Given the description of an element on the screen output the (x, y) to click on. 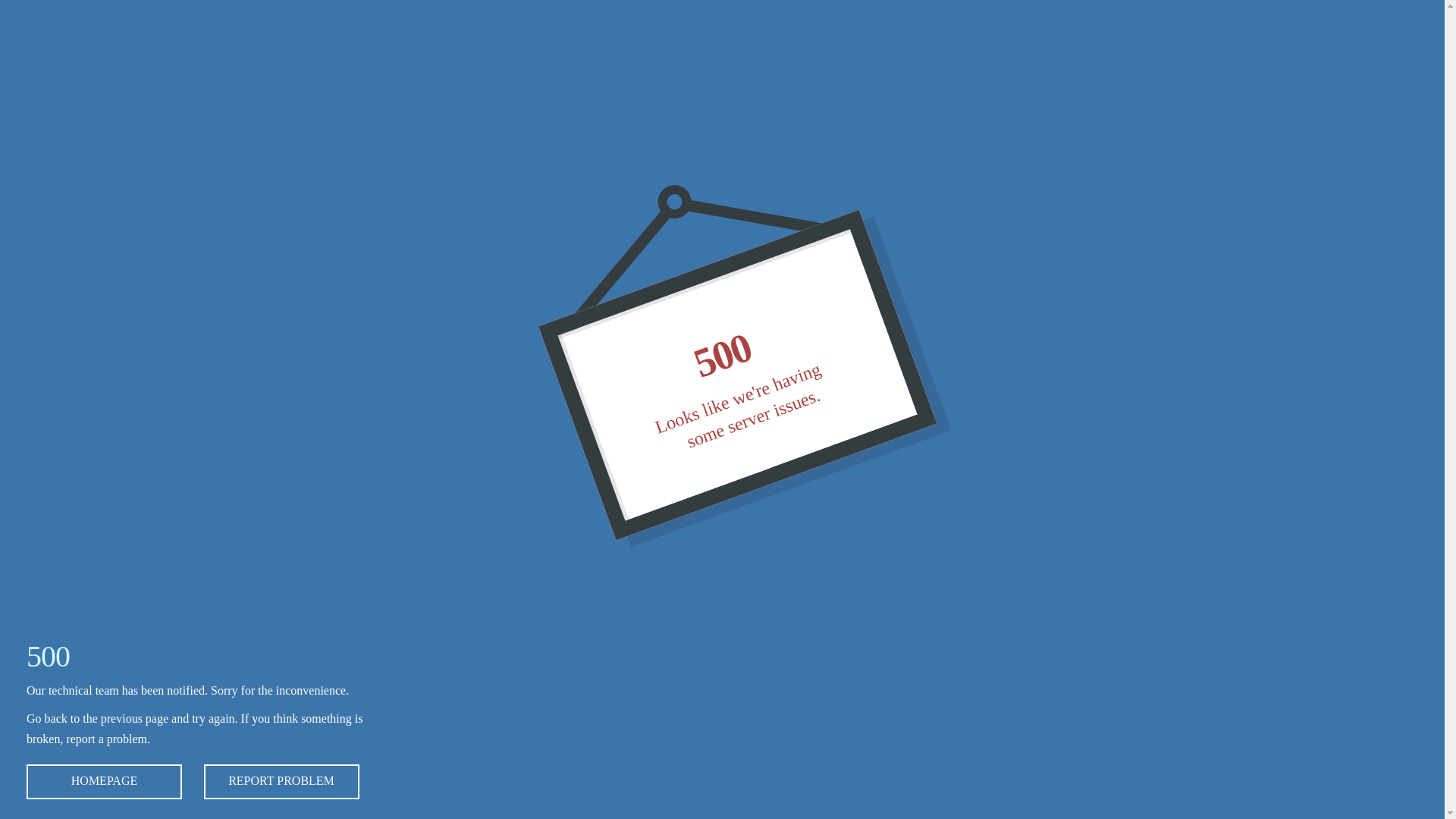
REPORT PROBLEM Element type: text (280, 781)
HOMEPAGE Element type: text (104, 781)
